Given the description of an element on the screen output the (x, y) to click on. 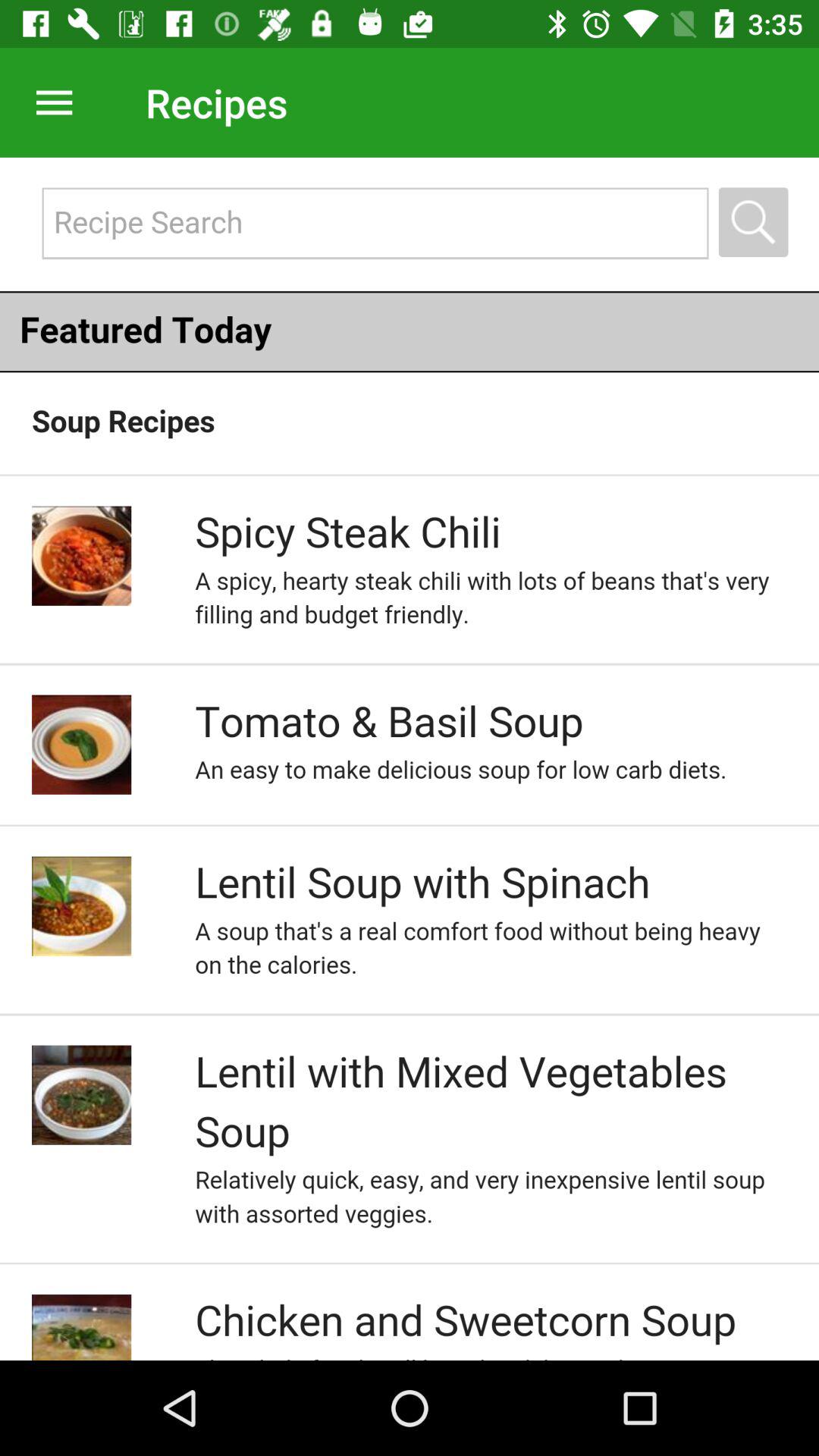
choose the option (409, 758)
